Given the description of an element on the screen output the (x, y) to click on. 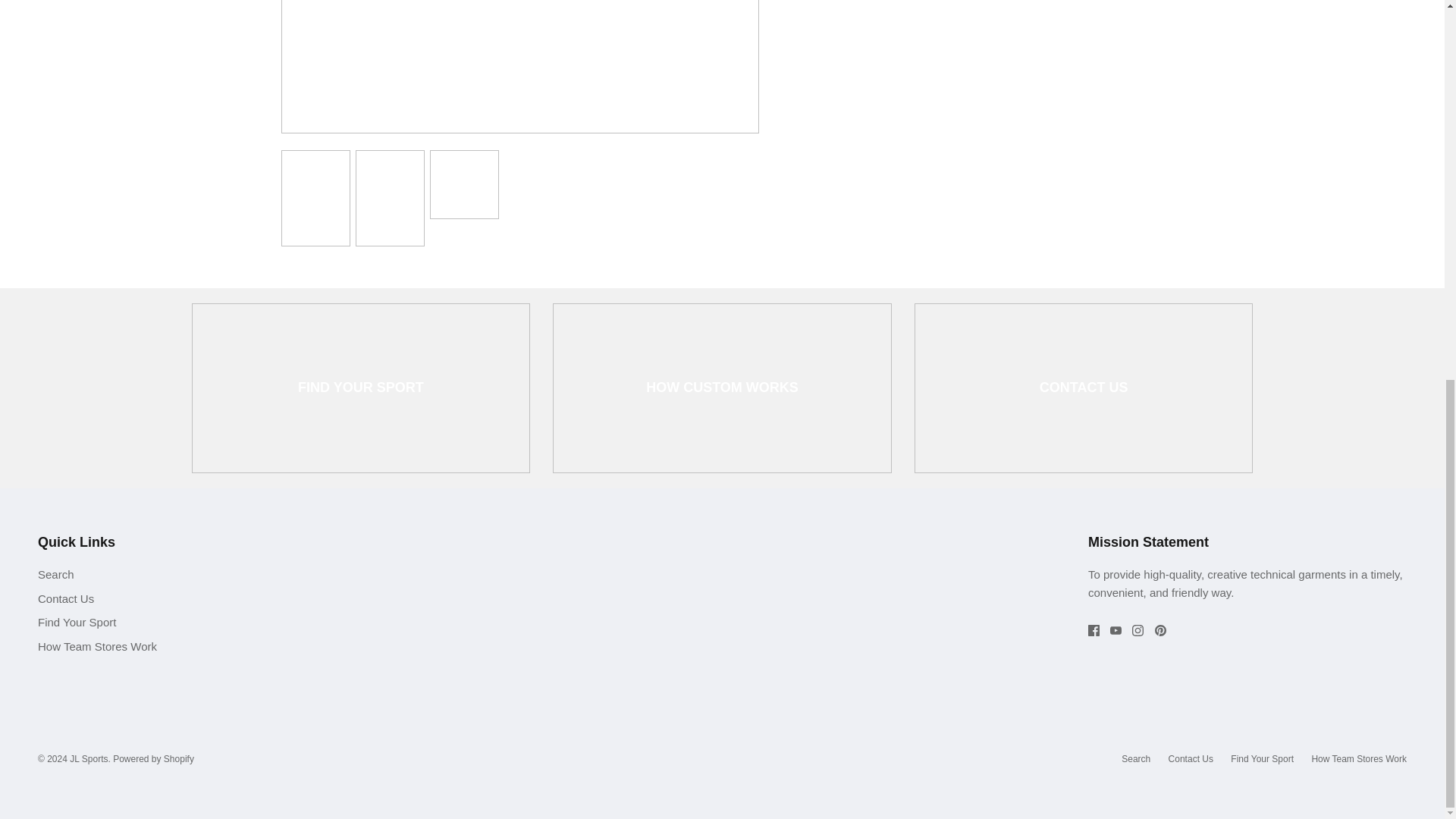
Youtube (1115, 630)
Instagram (1137, 630)
Facebook (1093, 630)
Pinterest (1160, 630)
